Given the description of an element on the screen output the (x, y) to click on. 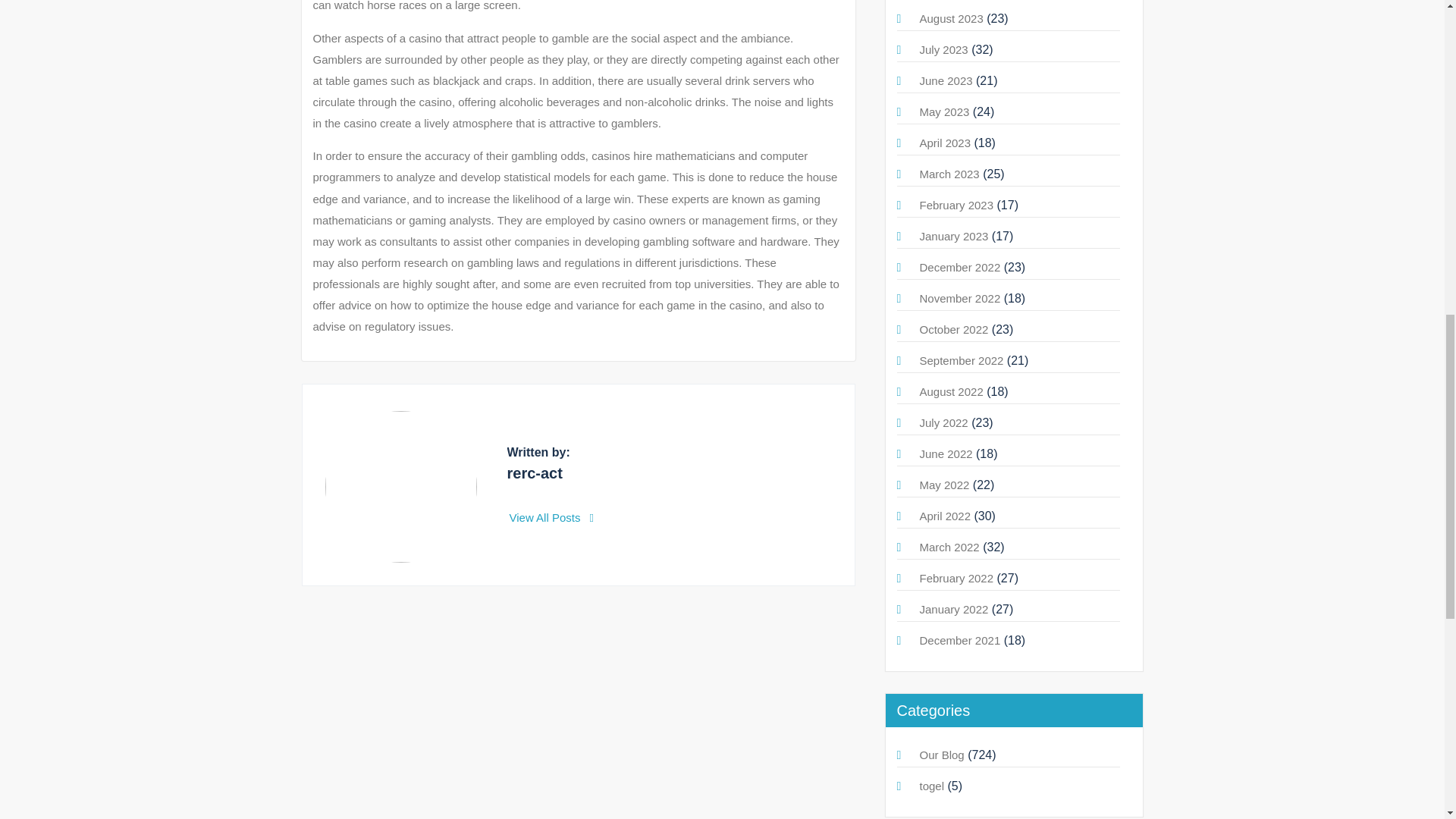
September 2022 (960, 359)
April 2023 (944, 142)
May 2023 (943, 111)
July 2023 (943, 49)
April 2022 (944, 515)
June 2023 (945, 80)
February 2023 (955, 205)
March 2023 (948, 173)
View All Posts (551, 517)
July 2022 (943, 422)
January 2023 (953, 236)
May 2022 (943, 484)
November 2022 (959, 297)
August 2022 (950, 391)
June 2022 (945, 453)
